Given the description of an element on the screen output the (x, y) to click on. 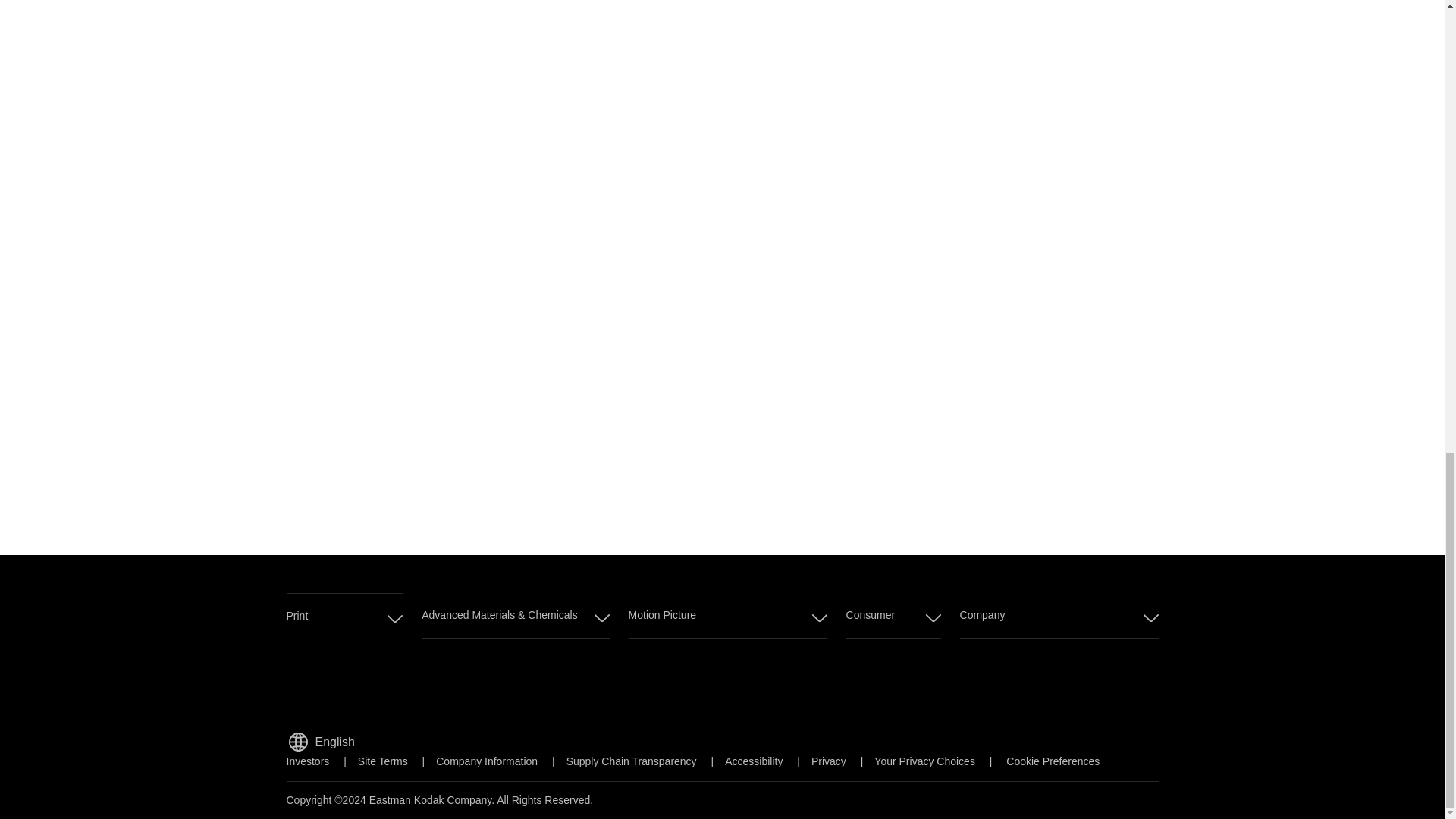
Arrow Down (1150, 616)
Arrow Down (395, 618)
Arrow Down (344, 615)
Arrow Down (819, 616)
Globe (602, 616)
Arrow Down (297, 741)
